Given the description of an element on the screen output the (x, y) to click on. 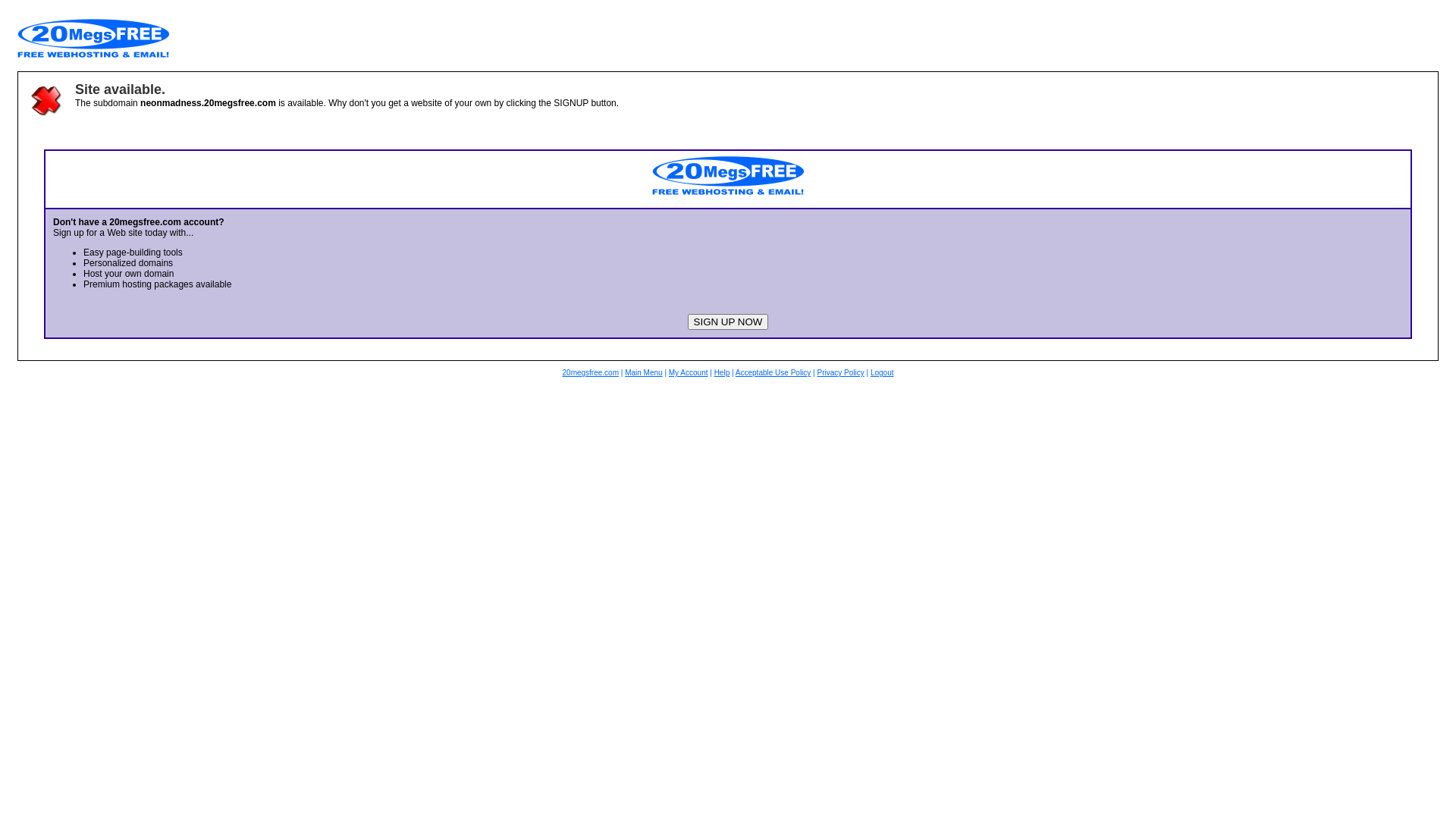
My Account Element type: text (688, 372)
SIGN UP NOW Element type: text (727, 321)
Main Menu Element type: text (643, 372)
Help Element type: text (722, 372)
Privacy Policy Element type: text (839, 372)
20megsfree.com Element type: text (590, 372)
Logout Element type: text (882, 372)
Acceptable Use Policy Element type: text (773, 372)
